Given the description of an element on the screen output the (x, y) to click on. 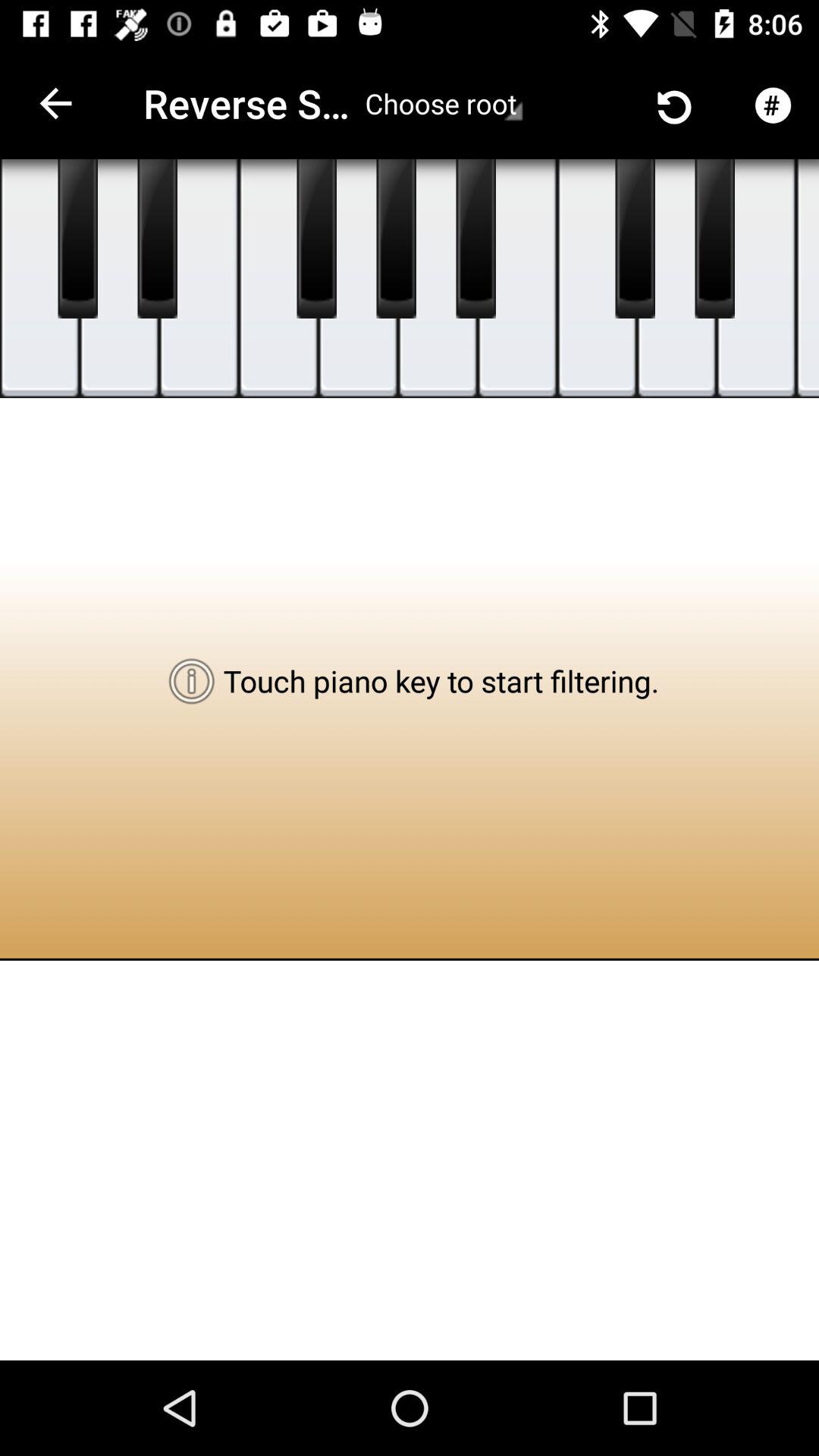
play selected note (597, 278)
